Given the description of an element on the screen output the (x, y) to click on. 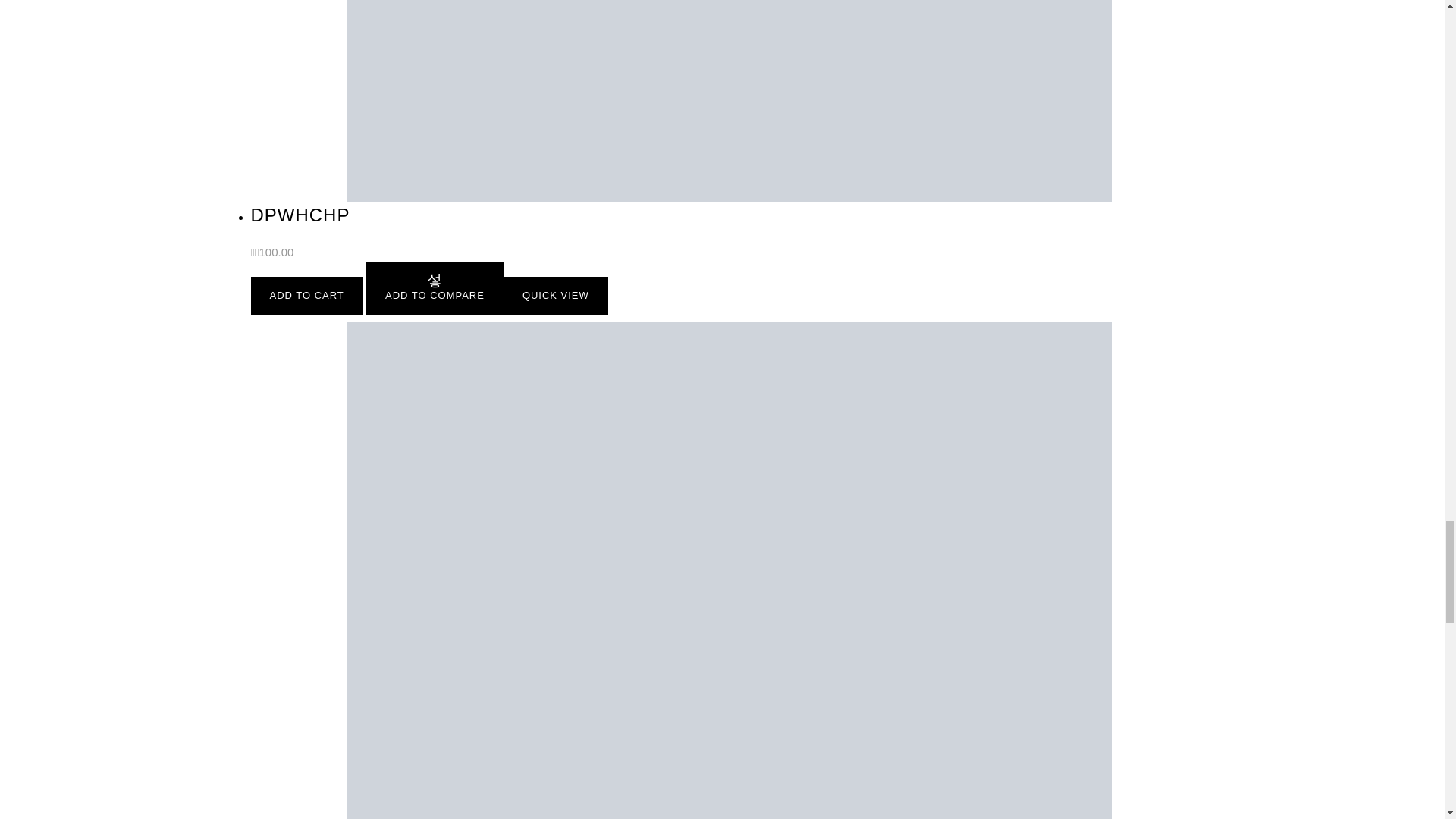
DPWHCHP (299, 214)
Add to cart (306, 295)
